Given the description of an element on the screen output the (x, y) to click on. 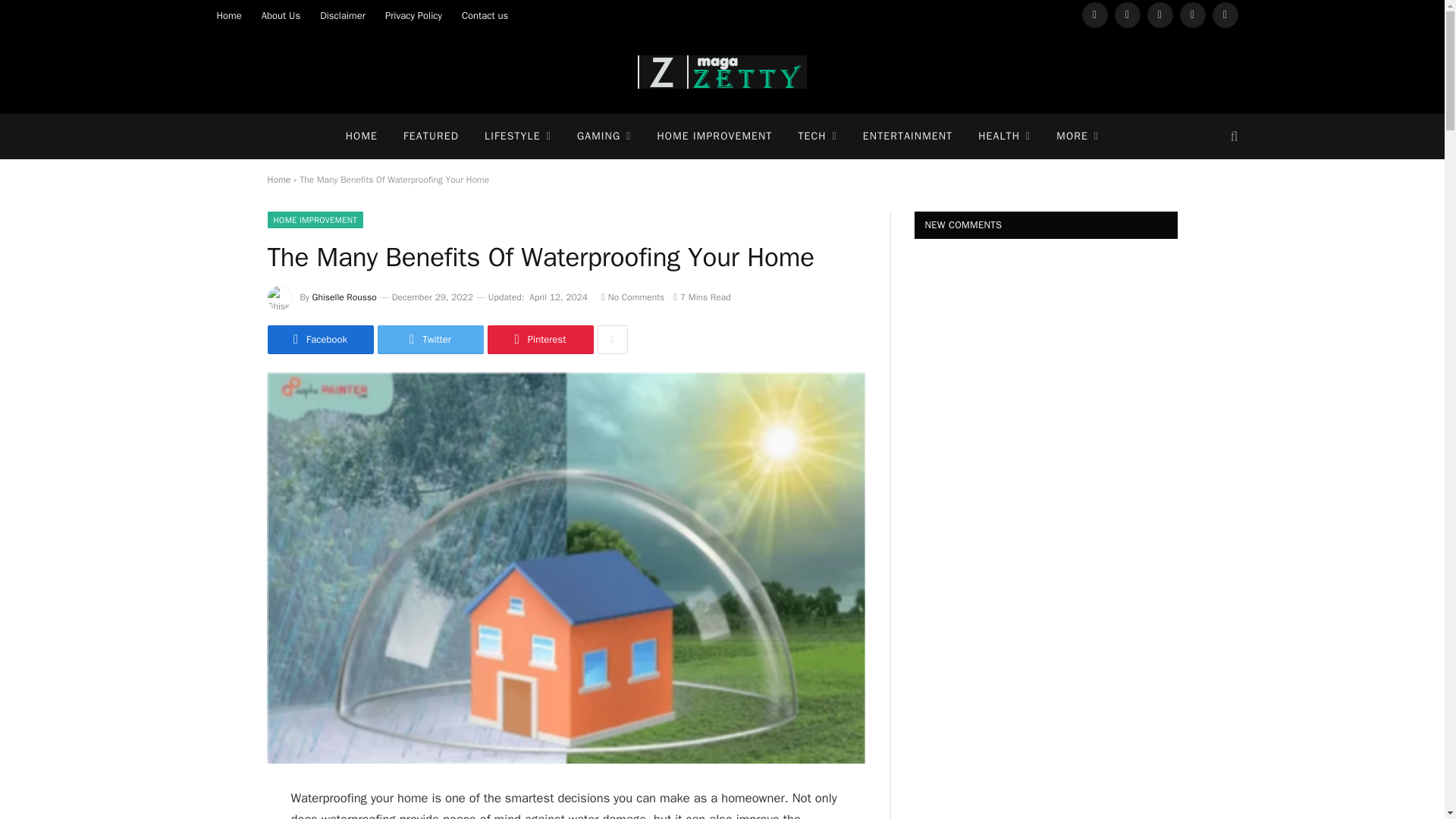
Instagram (1160, 14)
Show More Social Sharing (611, 339)
Share on Facebook (319, 339)
Magazetty (721, 71)
TECH (816, 135)
HEALTH (1004, 135)
Posts by Ghiselle Rousso (345, 297)
Disclaimer (342, 15)
HOME IMPROVEMENT (713, 135)
Vimeo (1192, 14)
Privacy Policy (413, 15)
HOME (361, 135)
About Us (280, 15)
VKontakte (1225, 14)
LIFESTYLE (517, 135)
